Given the description of an element on the screen output the (x, y) to click on. 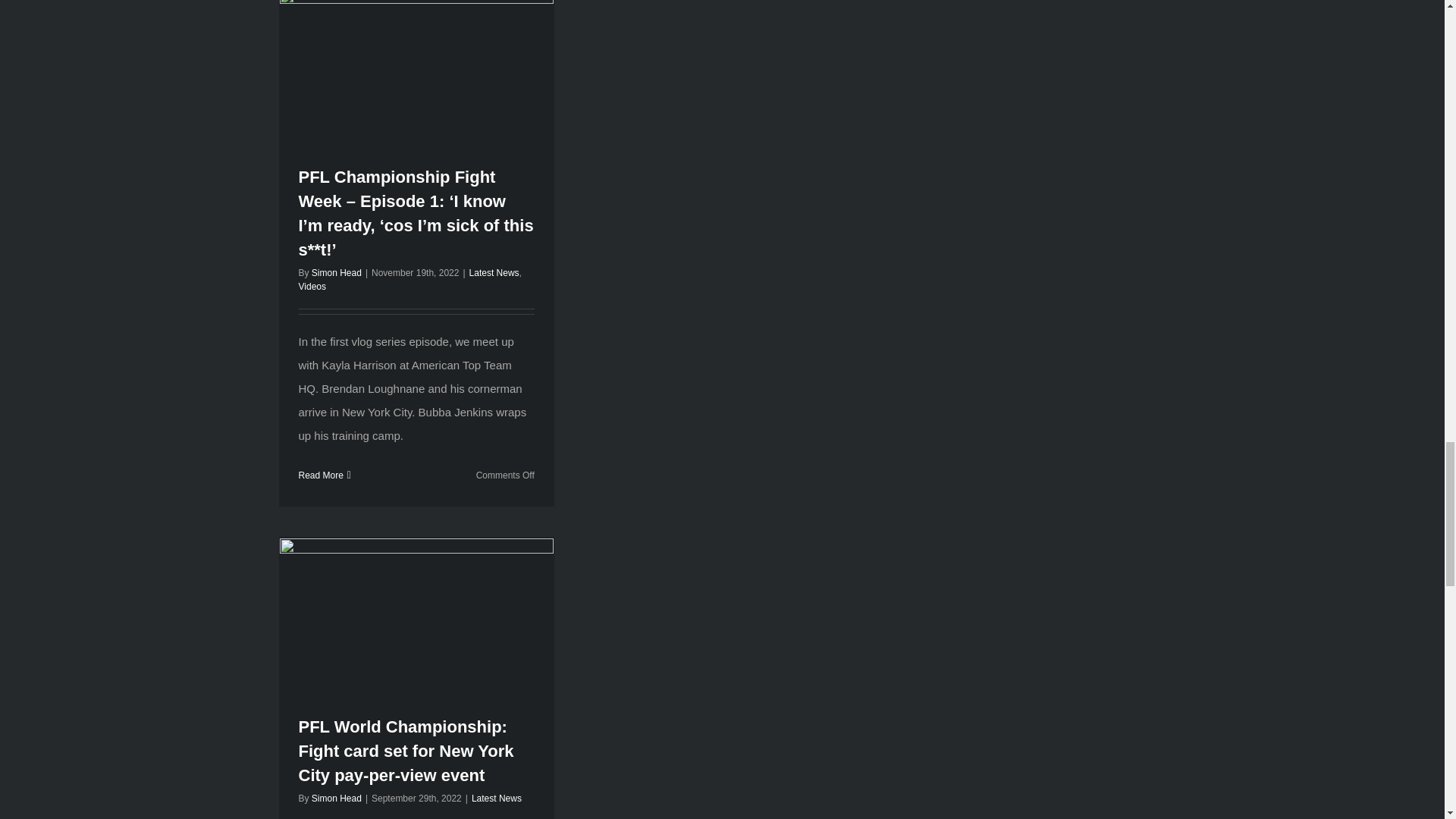
Videos (312, 286)
Simon Head (336, 272)
Posts by Simon Head (336, 798)
Posts by Simon Head (336, 272)
Latest News (493, 272)
